Given the description of an element on the screen output the (x, y) to click on. 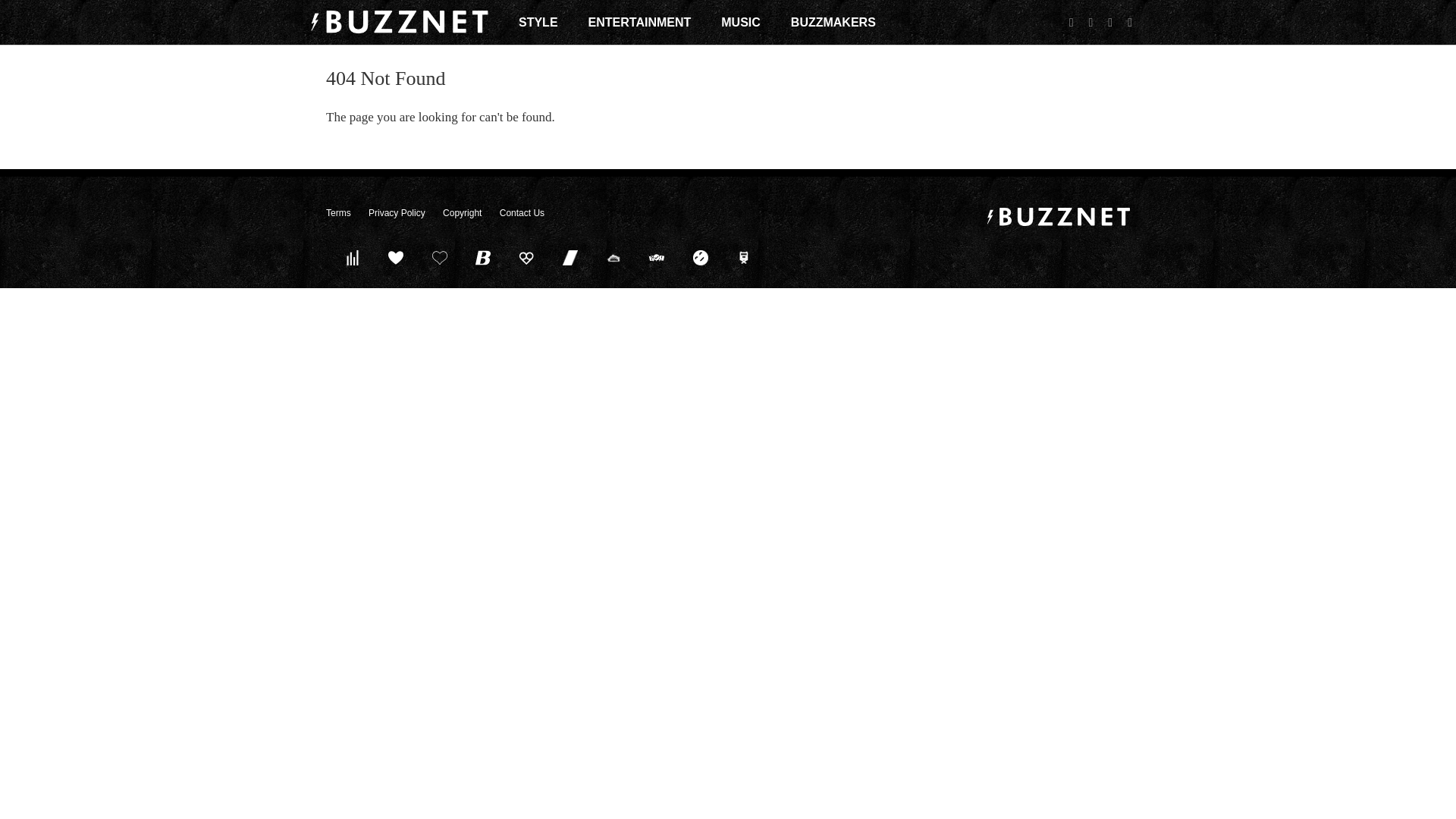
MUSIC (740, 22)
STYLE (538, 22)
Hooch (526, 257)
Explored Hollywood (743, 257)
Idolator (395, 257)
Taco Relish (612, 257)
BUZZMAKERS (833, 22)
Copyright (461, 213)
Pure Volume (351, 257)
Trend Chaser (570, 257)
Post Fun (439, 257)
Terms (338, 213)
Quizscape (656, 257)
Privacy Policy (396, 213)
BleacherBreaker (483, 257)
